Given the description of an element on the screen output the (x, y) to click on. 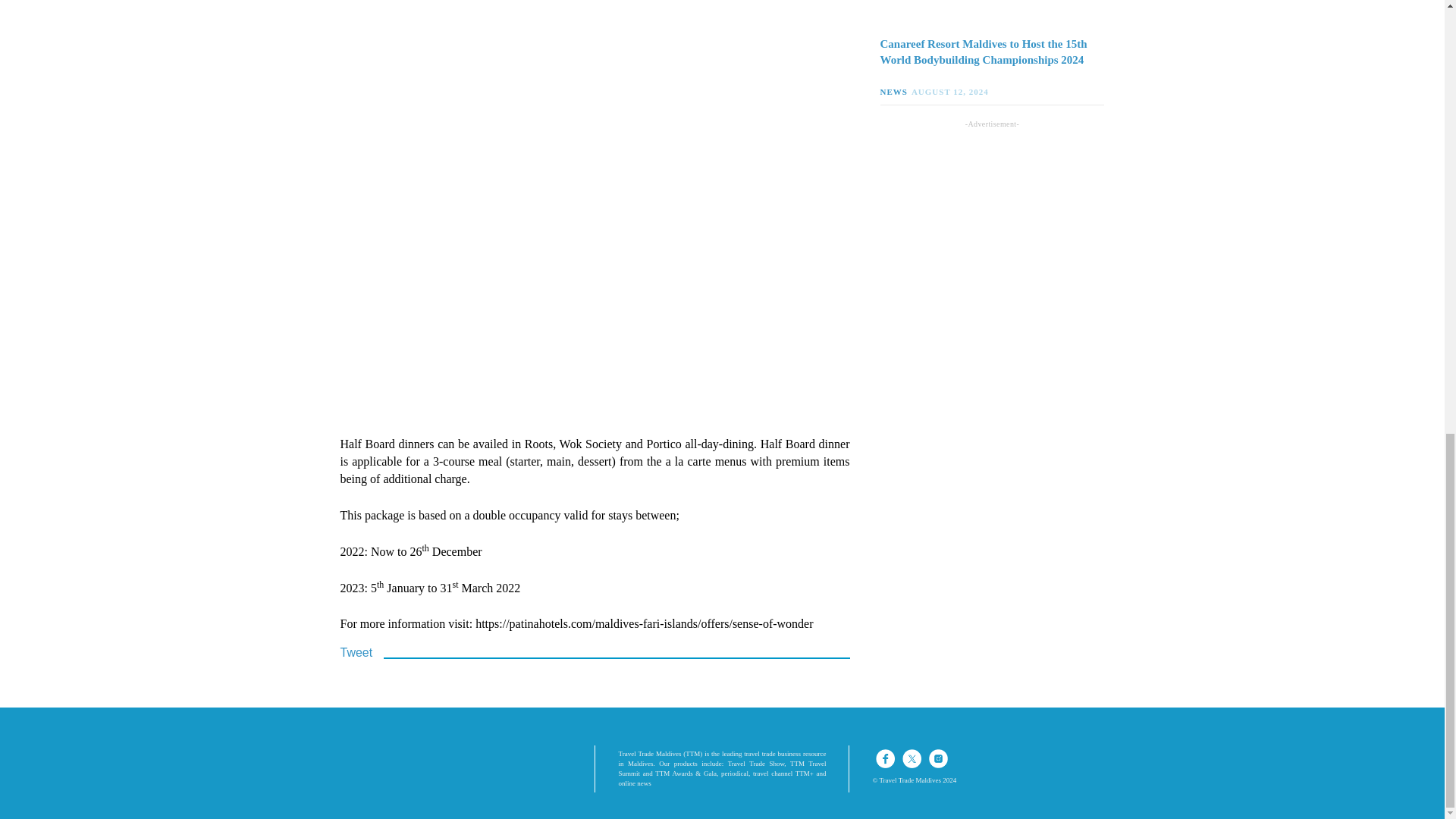
NEWS (895, 91)
Tweet (355, 652)
